Given the description of an element on the screen output the (x, y) to click on. 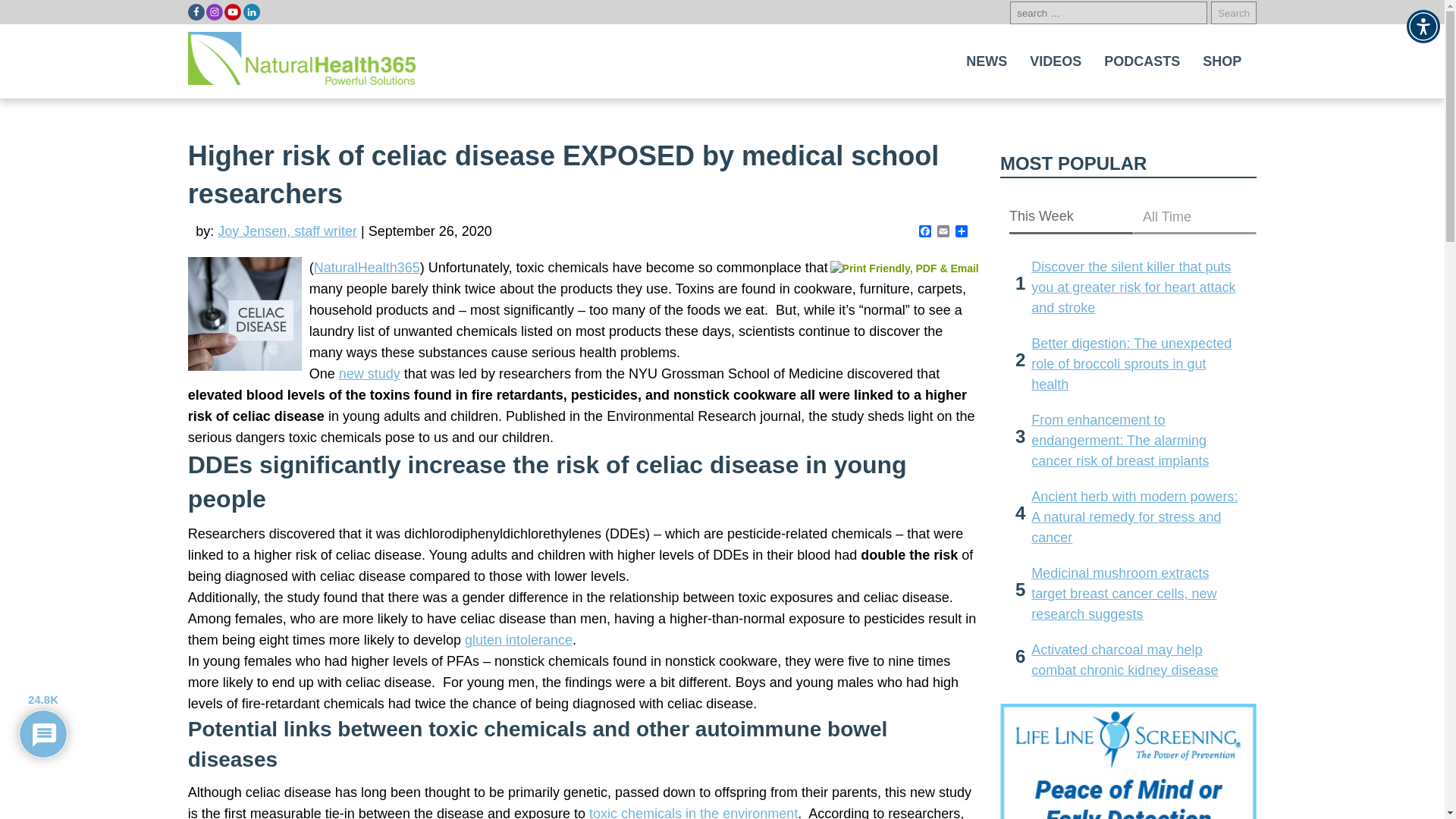
Facebook (924, 232)
NaturalHealth365 on Instagram (214, 12)
Joy Jensen, staff writer (286, 231)
toxic chemicals in the environment (693, 812)
Email (943, 232)
PODCASTS (1142, 60)
VIDEOS (1055, 60)
NaturalHealth365 on Facebook (196, 12)
new study (369, 373)
Accessibility Menu (1422, 26)
NEWS (986, 60)
gluten intolerance (518, 639)
Search (1233, 12)
Facebook (924, 232)
SHOP (1222, 60)
